Given the description of an element on the screen output the (x, y) to click on. 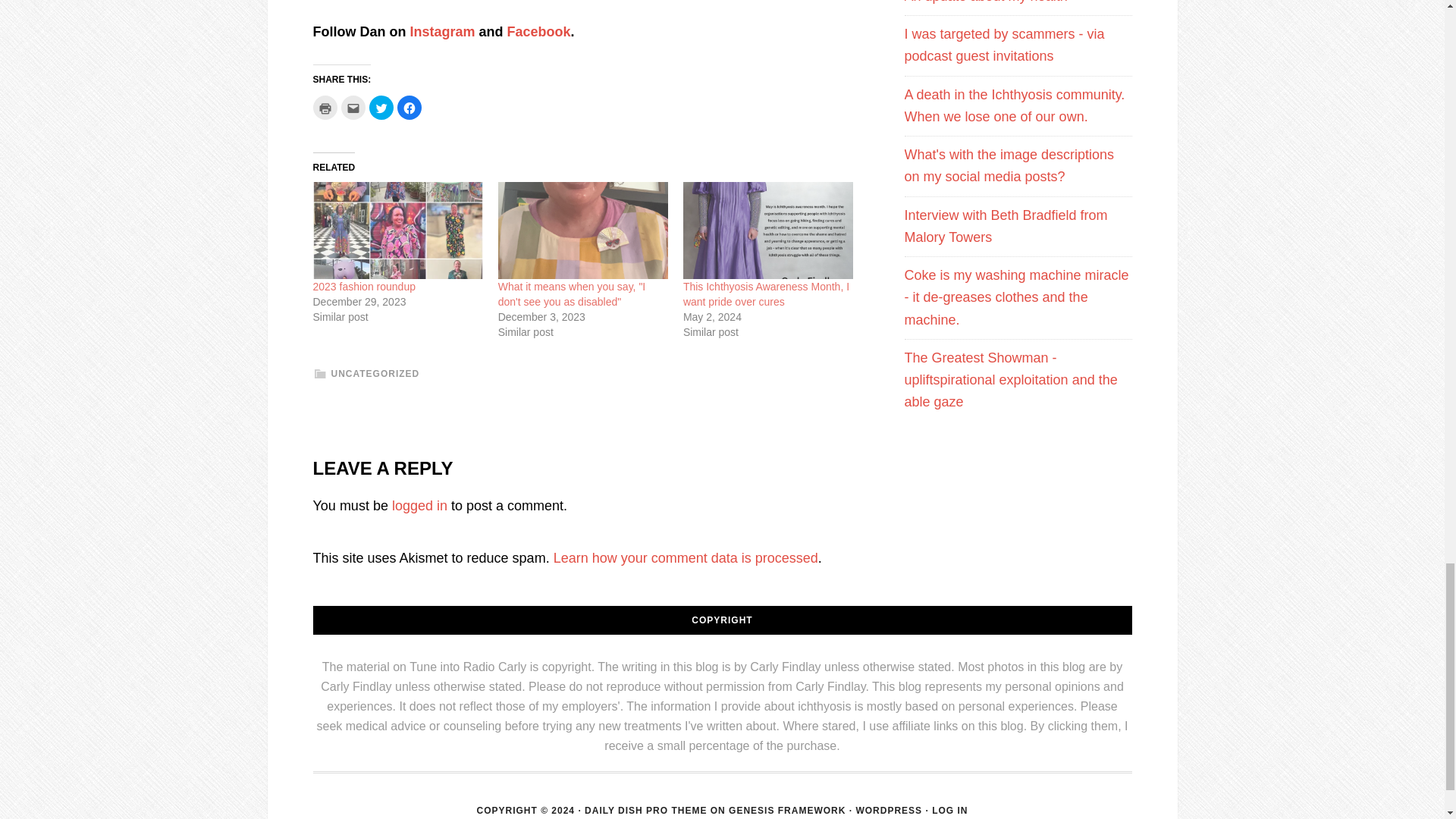
Click to share on Facebook (409, 107)
This Ichthyosis Awareness Month, I want pride over cures (765, 293)
2023 fashion roundup (363, 286)
This Ichthyosis Awareness Month, I want pride over cures (767, 230)
What it means when you say, "I don't see you as disabled" (582, 230)
Learn how your comment data is processed (685, 557)
Instagram (441, 31)
Click to share on Twitter (380, 107)
What it means when you say, "I don't see you as disabled" (571, 293)
logged in (418, 505)
This Ichthyosis Awareness Month, I want pride over cures (765, 293)
UNCATEGORIZED (374, 373)
Click to email this to a friend (352, 107)
What it means when you say, "I don't see you as disabled" (571, 293)
Facebook (538, 31)
